Given the description of an element on the screen output the (x, y) to click on. 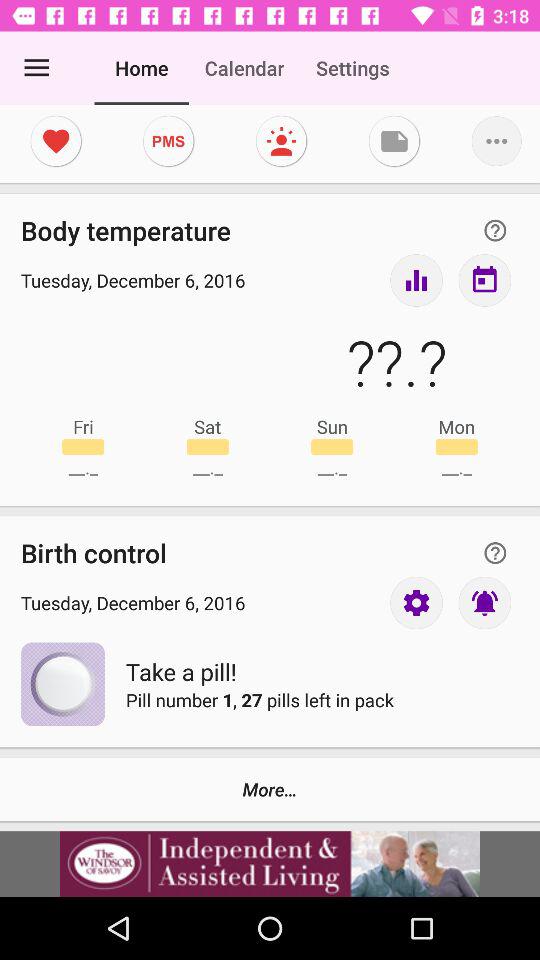
level (416, 280)
